Given the description of an element on the screen output the (x, y) to click on. 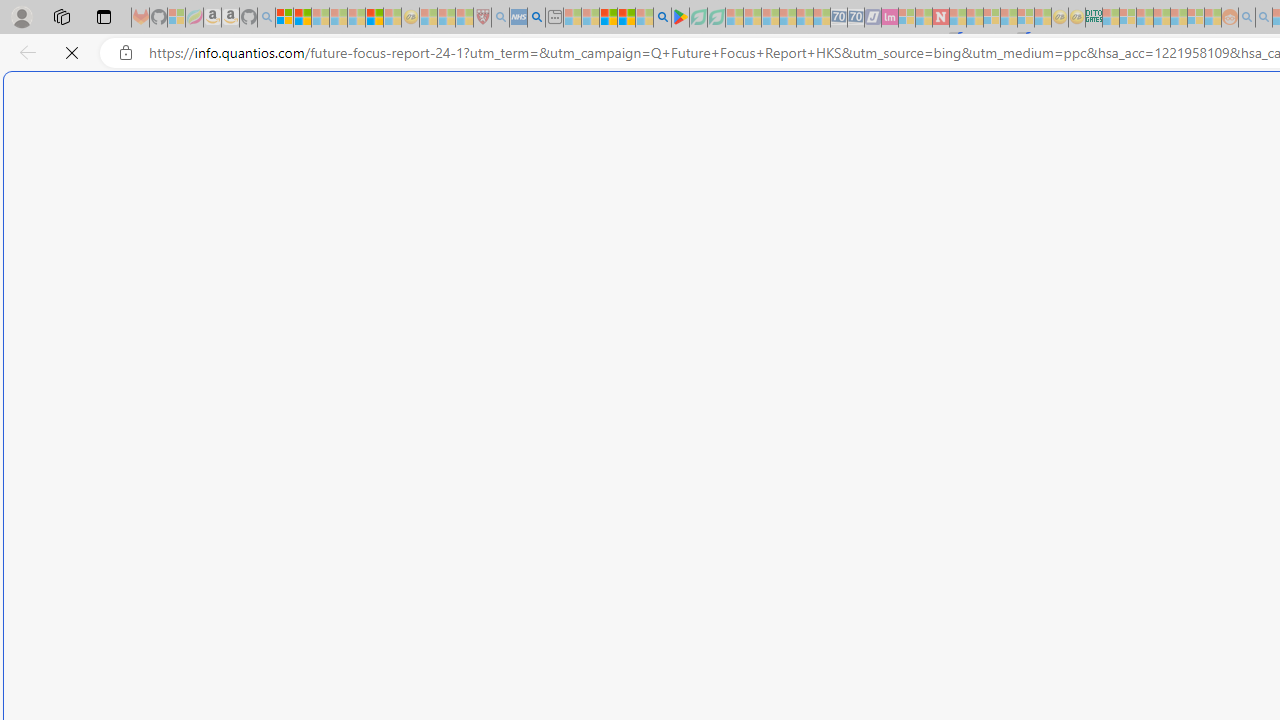
utah sues federal government - Search (536, 17)
